Given the description of an element on the screen output the (x, y) to click on. 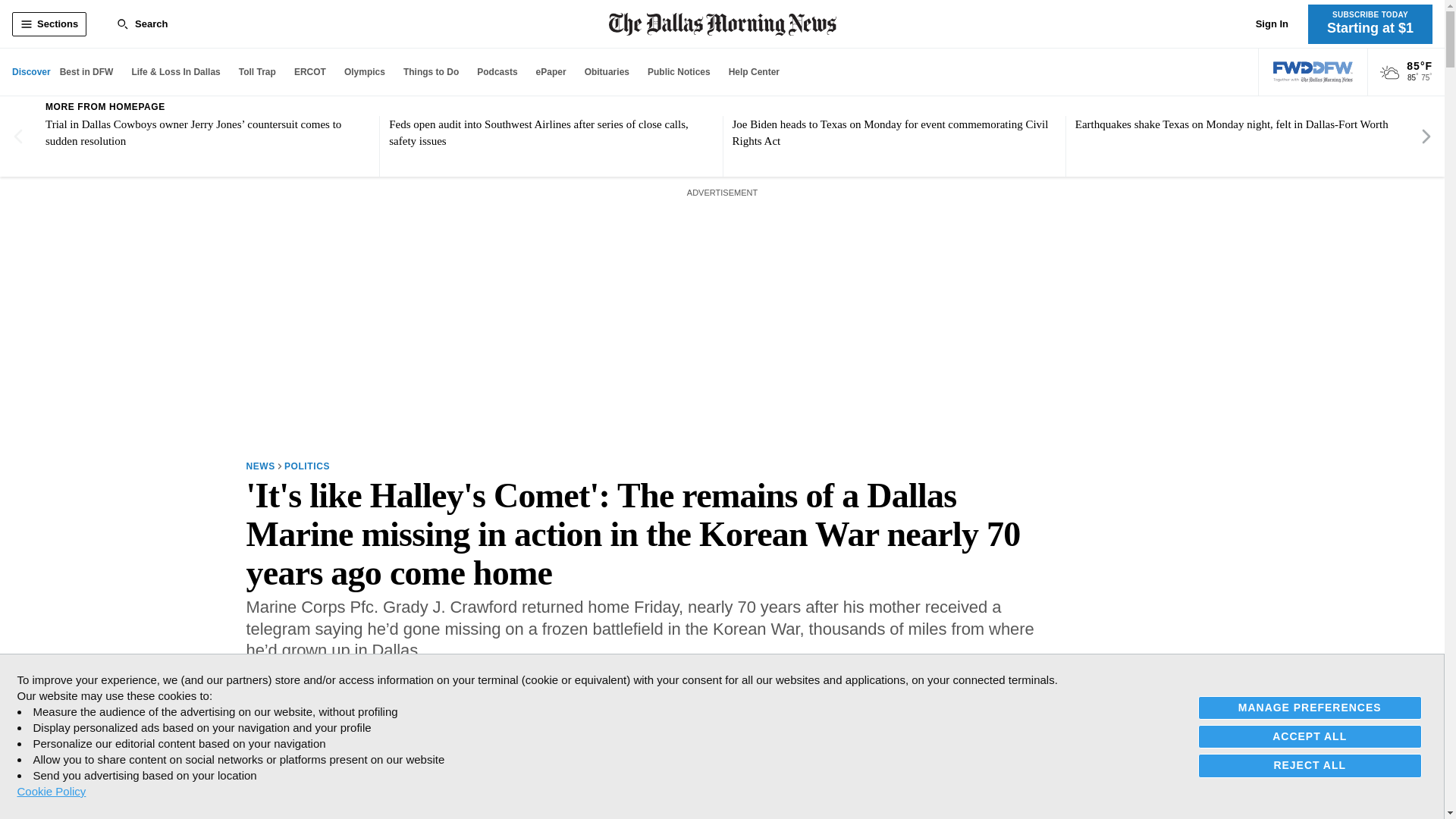
Broken clouds (1389, 72)
ACCEPT ALL (1310, 736)
Cookie Policy (50, 790)
MANAGE PREFERENCES (1310, 707)
FWD DFW, Together with The Dallas Morning News (1313, 72)
REJECT ALL (1310, 765)
